Given the description of an element on the screen output the (x, y) to click on. 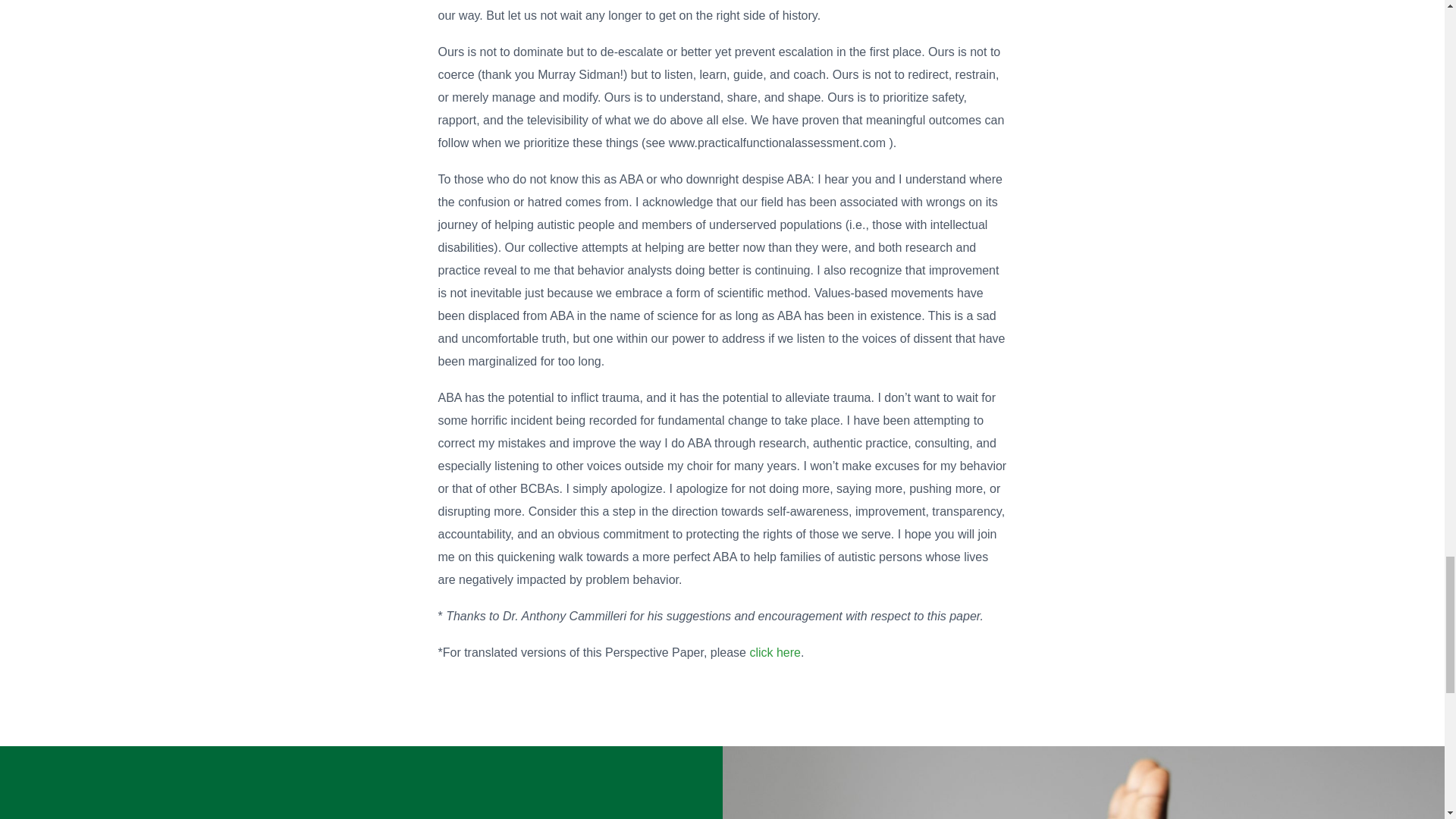
click here (774, 652)
